Given the description of an element on the screen output the (x, y) to click on. 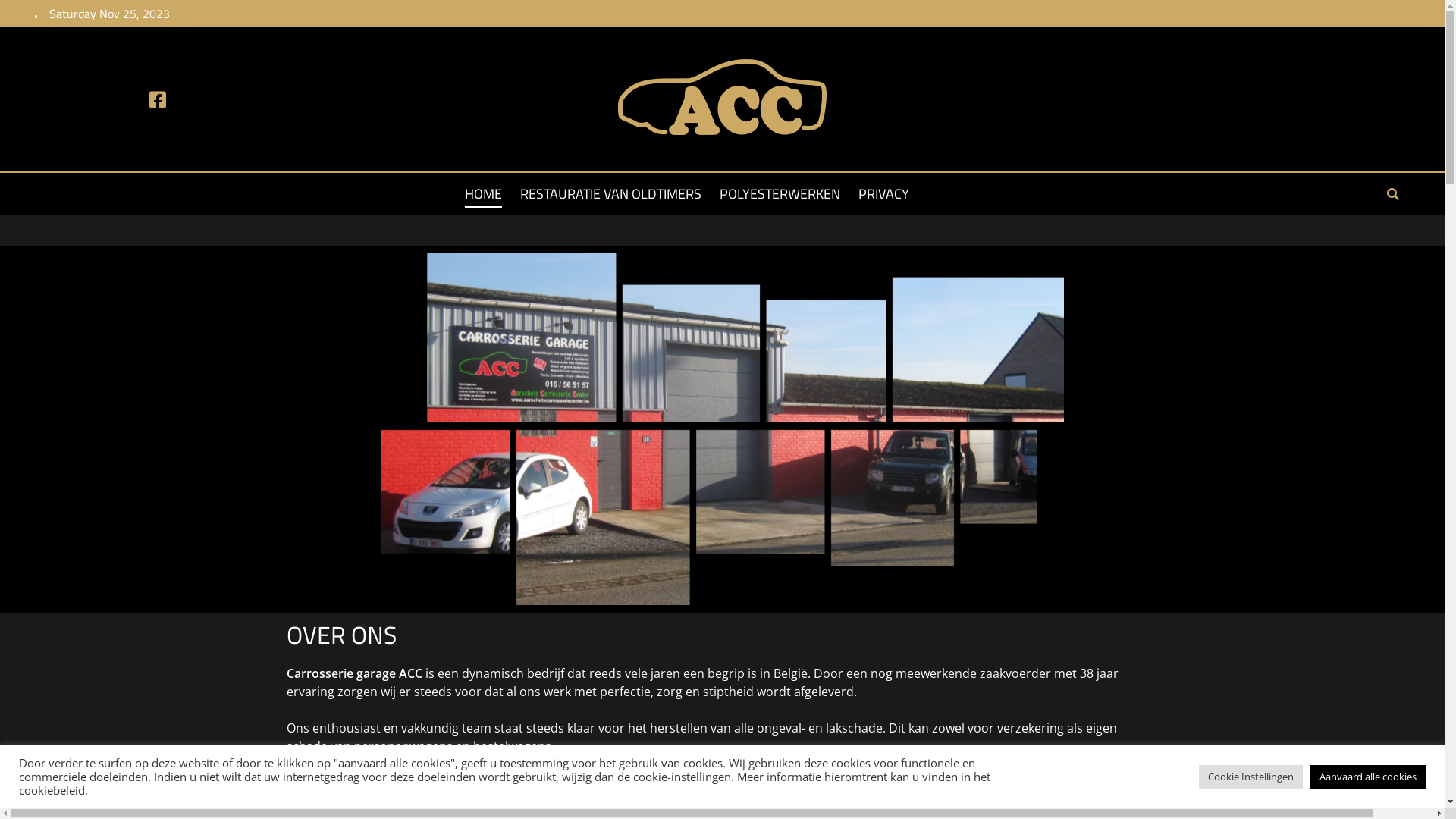
HOME Element type: text (483, 198)
polyesterwerken-header-website-1 Element type: hover (721, 429)
POLYESTERWERKEN Element type: text (779, 198)
Cookie Instellingen Element type: text (1250, 775)
RESTAURATIE VAN OLDTIMERS Element type: text (610, 198)
PRIVACY Element type: text (883, 198)
Aanvaard alle cookies Element type: text (1367, 775)
